Given the description of an element on the screen output the (x, y) to click on. 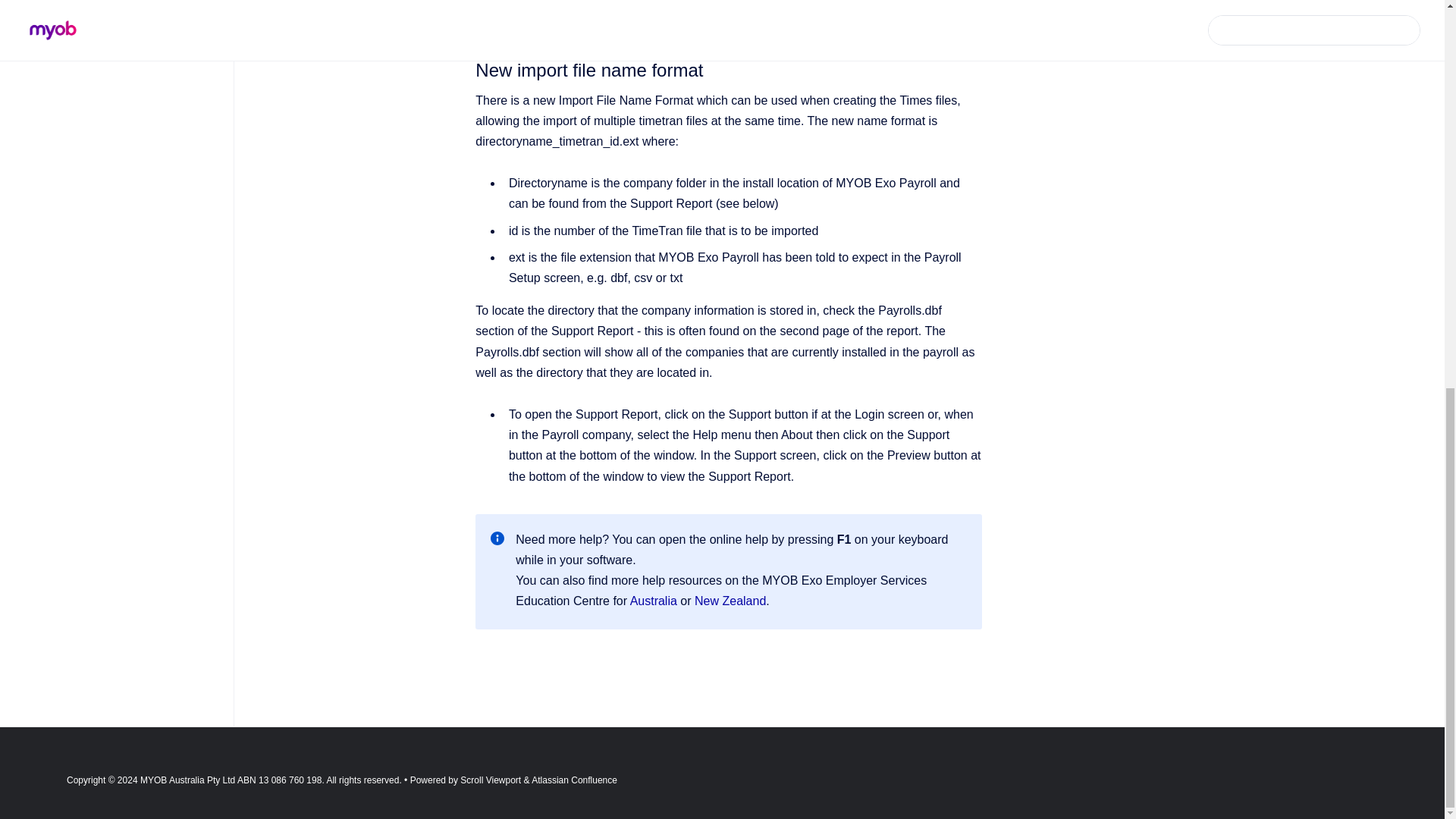
New Zealand (729, 600)
Atlassian Confluence (574, 779)
Australia (655, 600)
Scroll Viewport (491, 779)
